Given the description of an element on the screen output the (x, y) to click on. 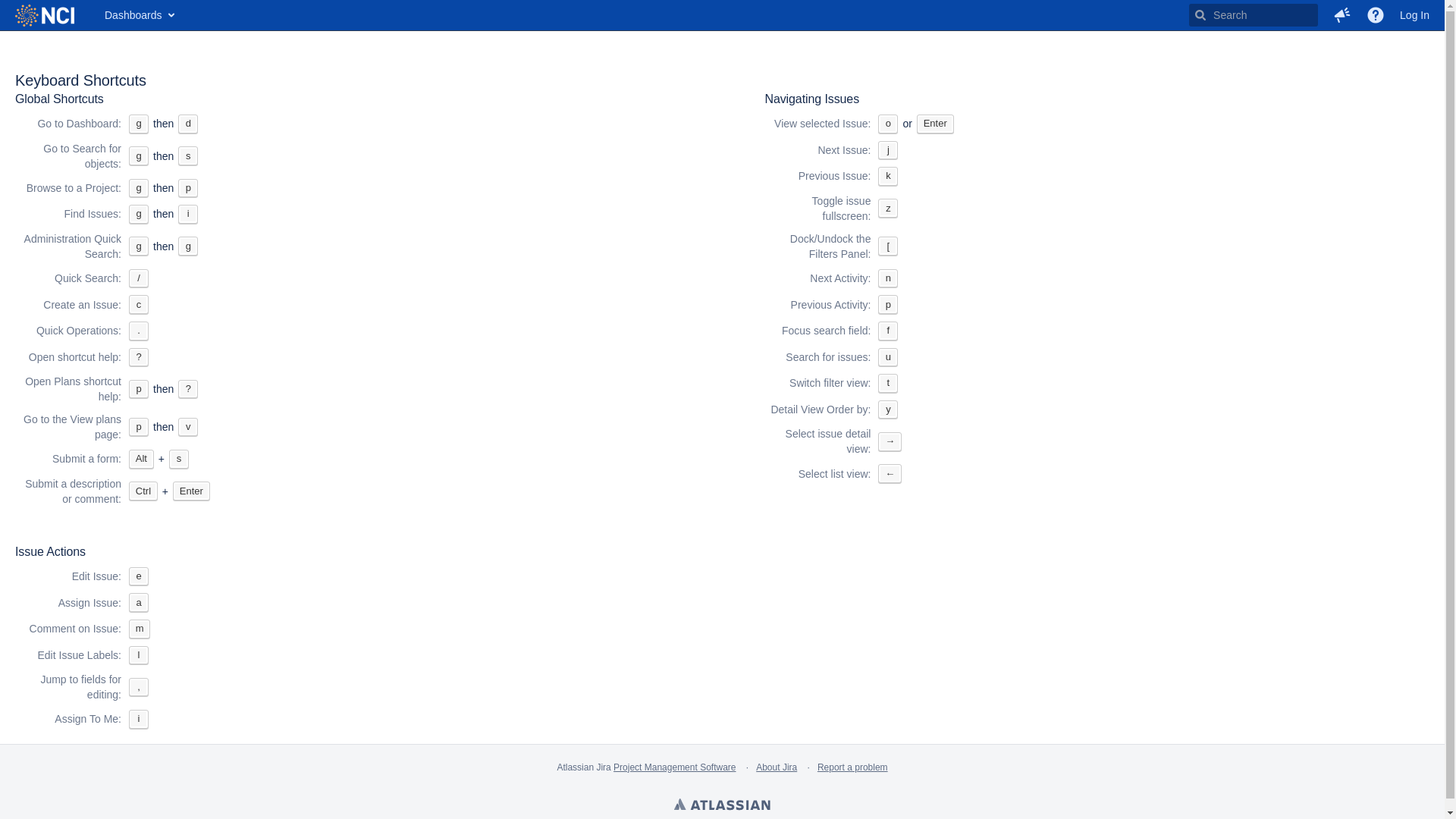
Search Element type: hover (1253, 14)
Log In Element type: text (1414, 15)
Give feedback to Atlassian Element type: text (1341, 15)
Dashboards Element type: text (138, 15)
About Jira Element type: text (776, 767)
Atlassian Element type: text (722, 805)
Help Element type: text (1375, 15)
Project Management Software Element type: text (674, 767)
Report a problem Element type: text (852, 767)
